Given the description of an element on the screen output the (x, y) to click on. 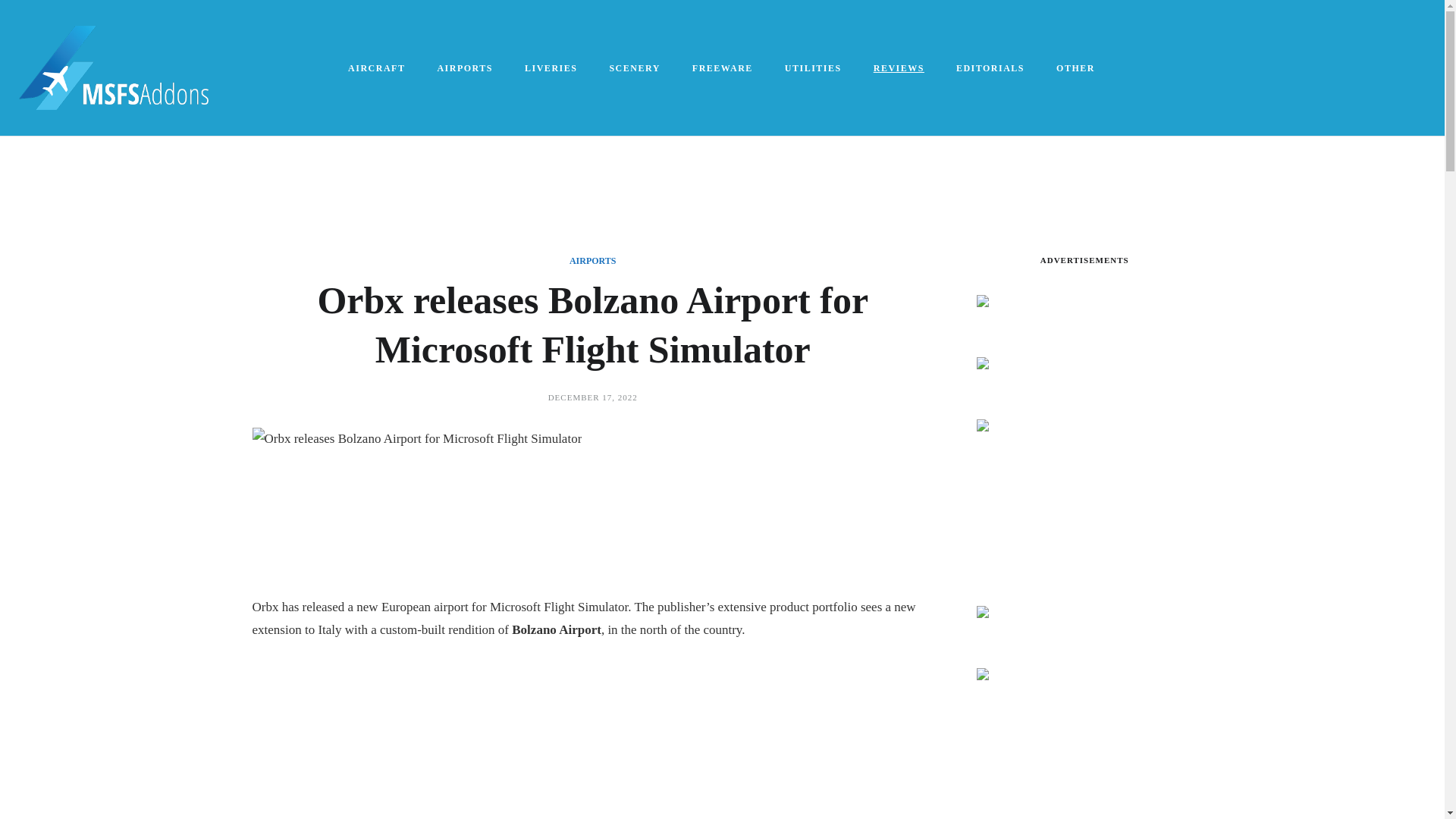
AIRPORTS (592, 260)
AIRPORTS (465, 68)
UTILITIES (814, 68)
AIRCRAFT (377, 68)
REVIEWS (899, 68)
FREEWARE (723, 68)
EDITORIALS (990, 68)
SCENERY (635, 68)
LIVERIES (551, 68)
OTHER (1076, 68)
